Given the description of an element on the screen output the (x, y) to click on. 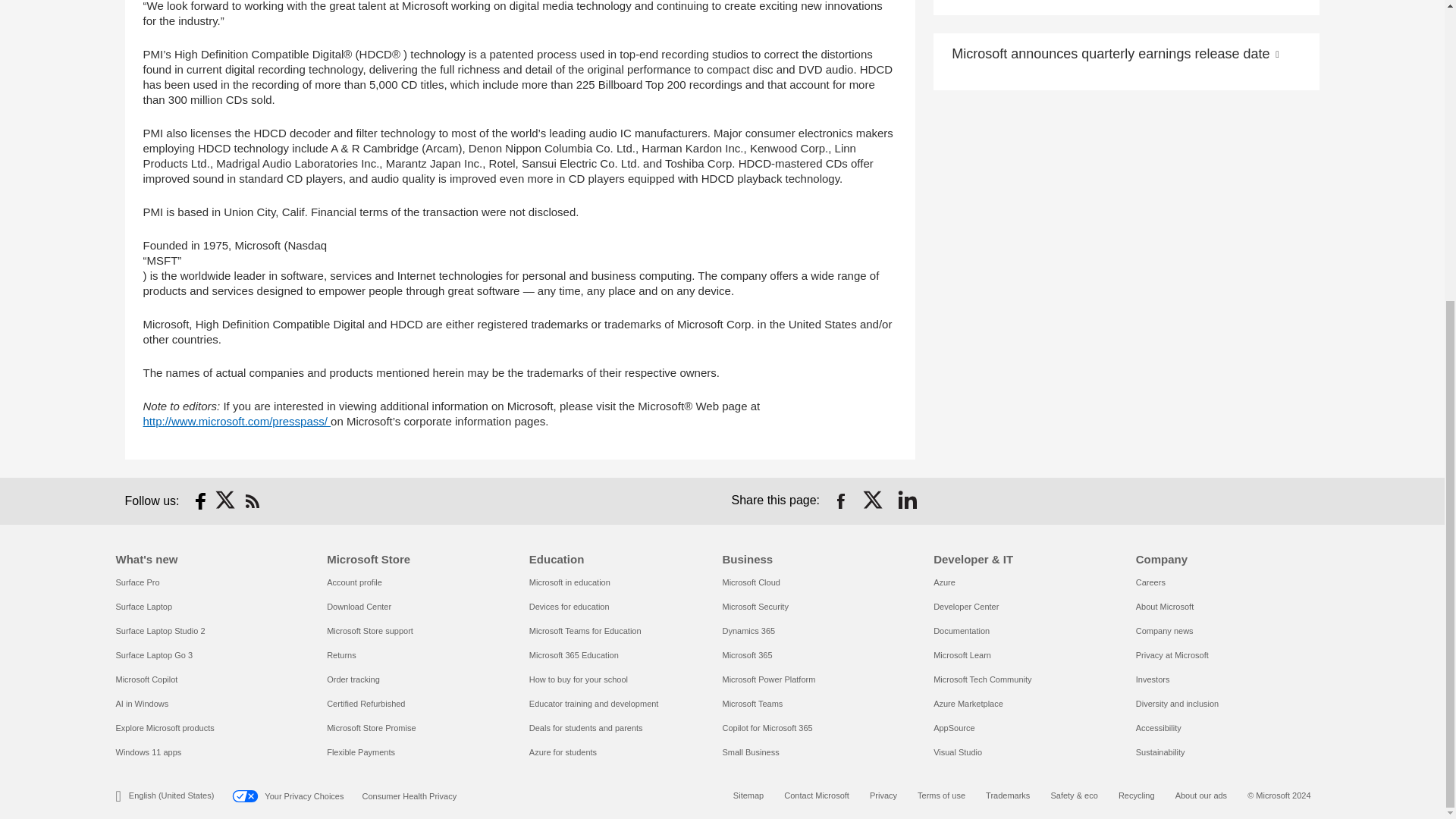
RSS Subscription (252, 500)
Share on Twitter (873, 500)
Follow on Facebook (200, 500)
Share on LinkedIn (907, 500)
Follow on Twitter (226, 500)
Share on Facebook (840, 500)
